Given the description of an element on the screen output the (x, y) to click on. 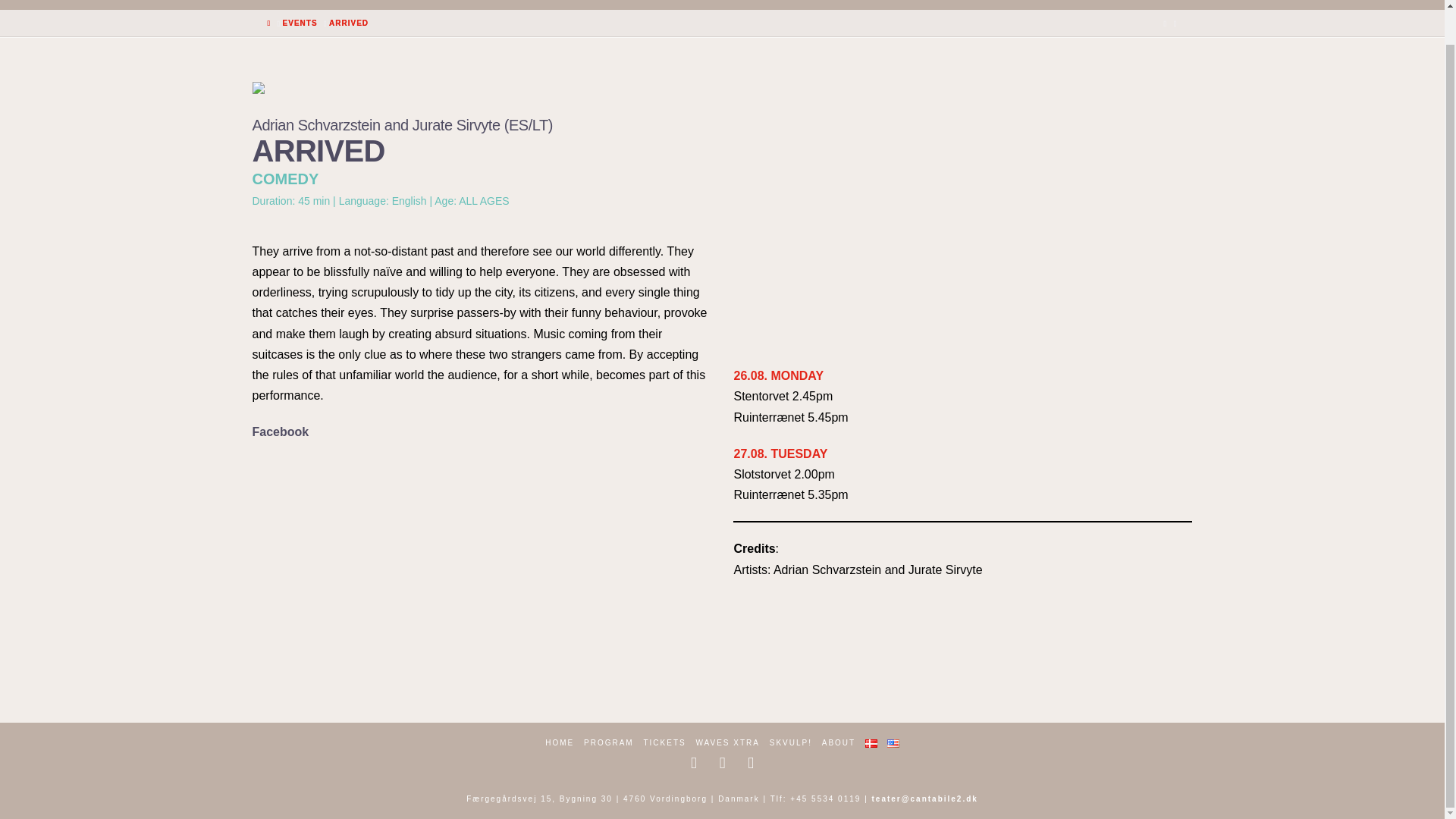
You Are Here (348, 22)
ABOUT (1063, 4)
SKVULP! (978, 4)
TICKETS (763, 4)
WAVES XTRA (870, 4)
PROGRAM (667, 4)
HOME (581, 4)
